Given the description of an element on the screen output the (x, y) to click on. 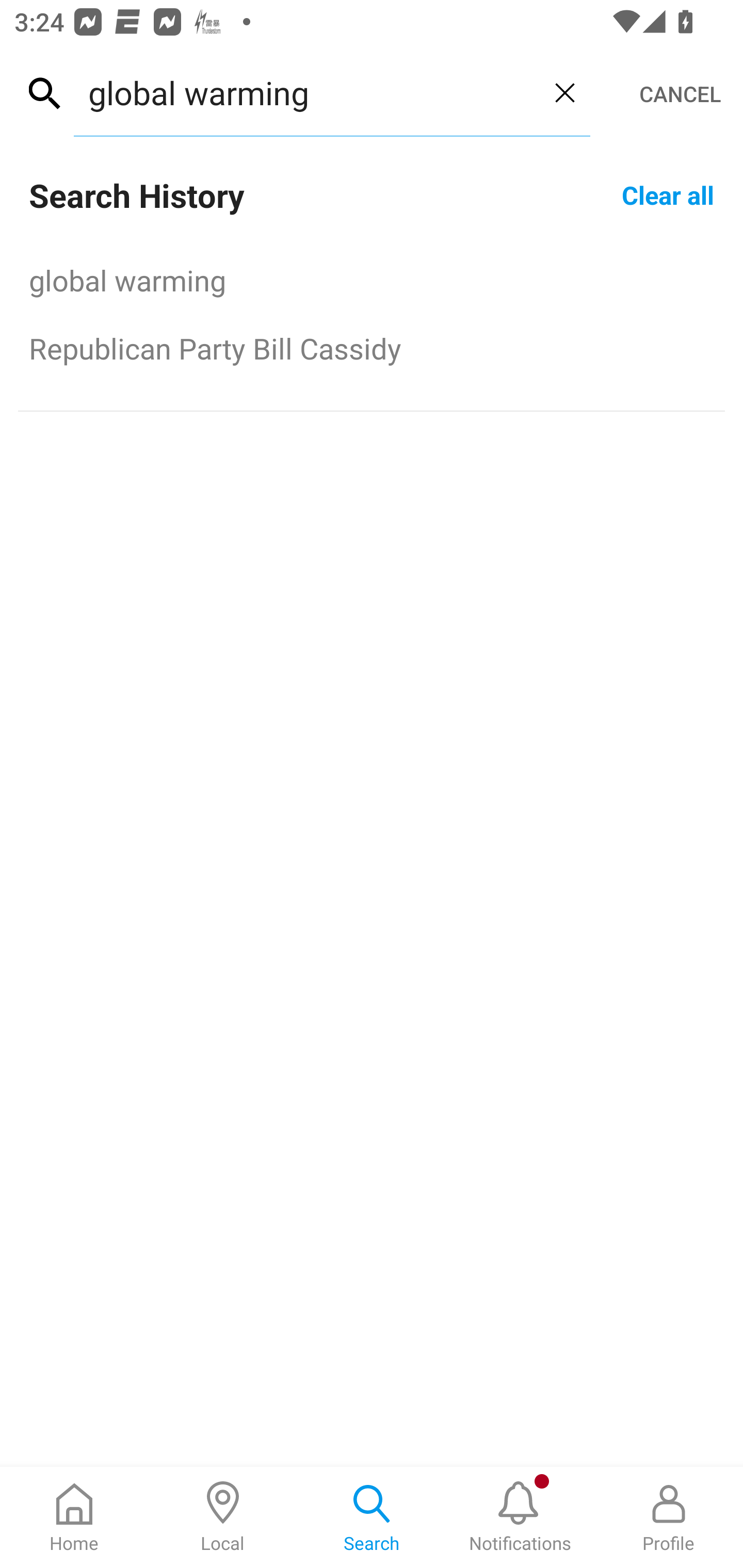
Clear query (564, 92)
CANCEL (680, 93)
global warming (306, 92)
Clear all (667, 194)
global warming (371, 279)
Republican Party Bill Cassidy (371, 347)
Home (74, 1517)
Local (222, 1517)
Notifications, New notification Notifications (519, 1517)
Profile (668, 1517)
